Given the description of an element on the screen output the (x, y) to click on. 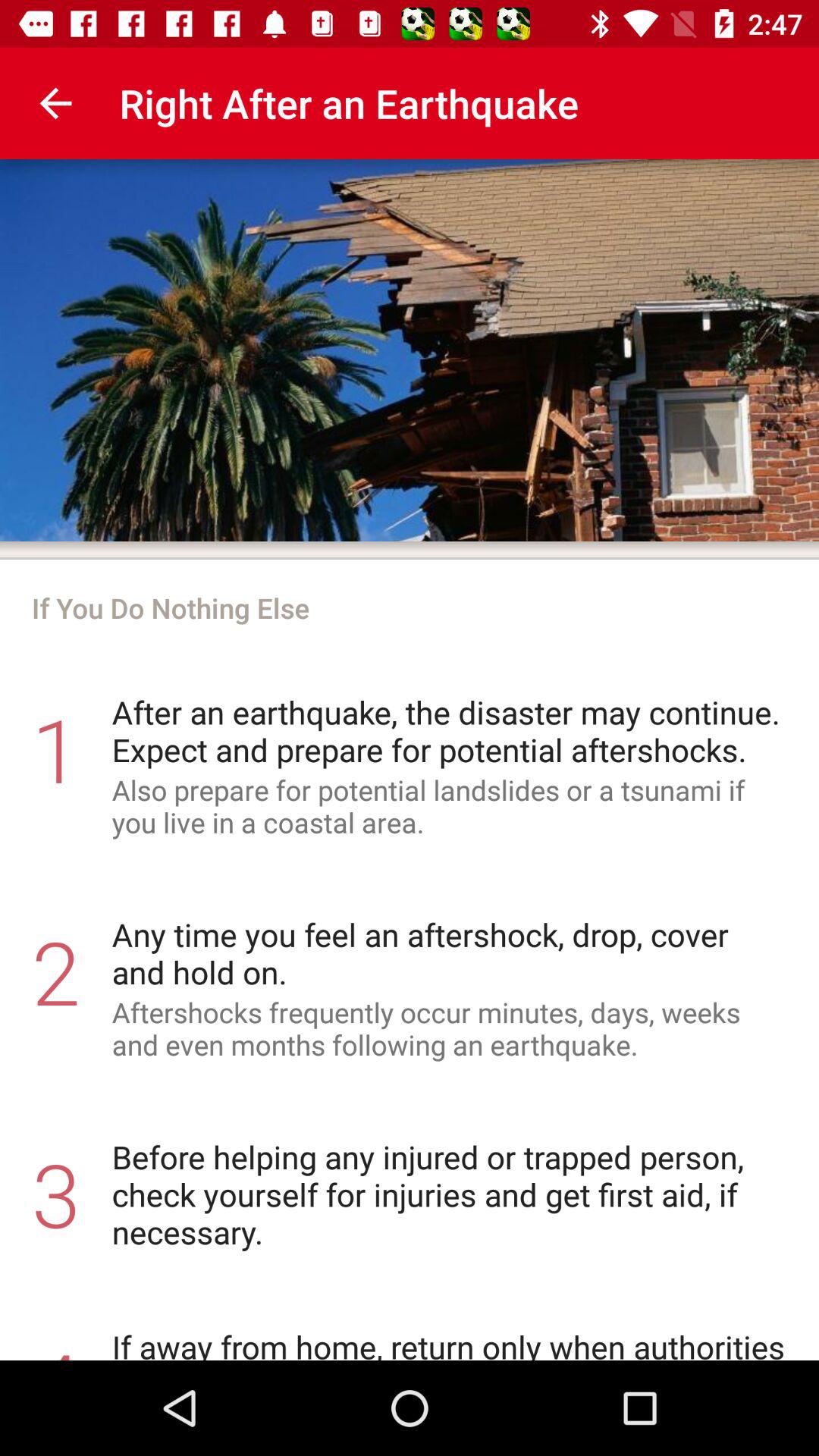
turn off app next to right after an icon (55, 103)
